Given the description of an element on the screen output the (x, y) to click on. 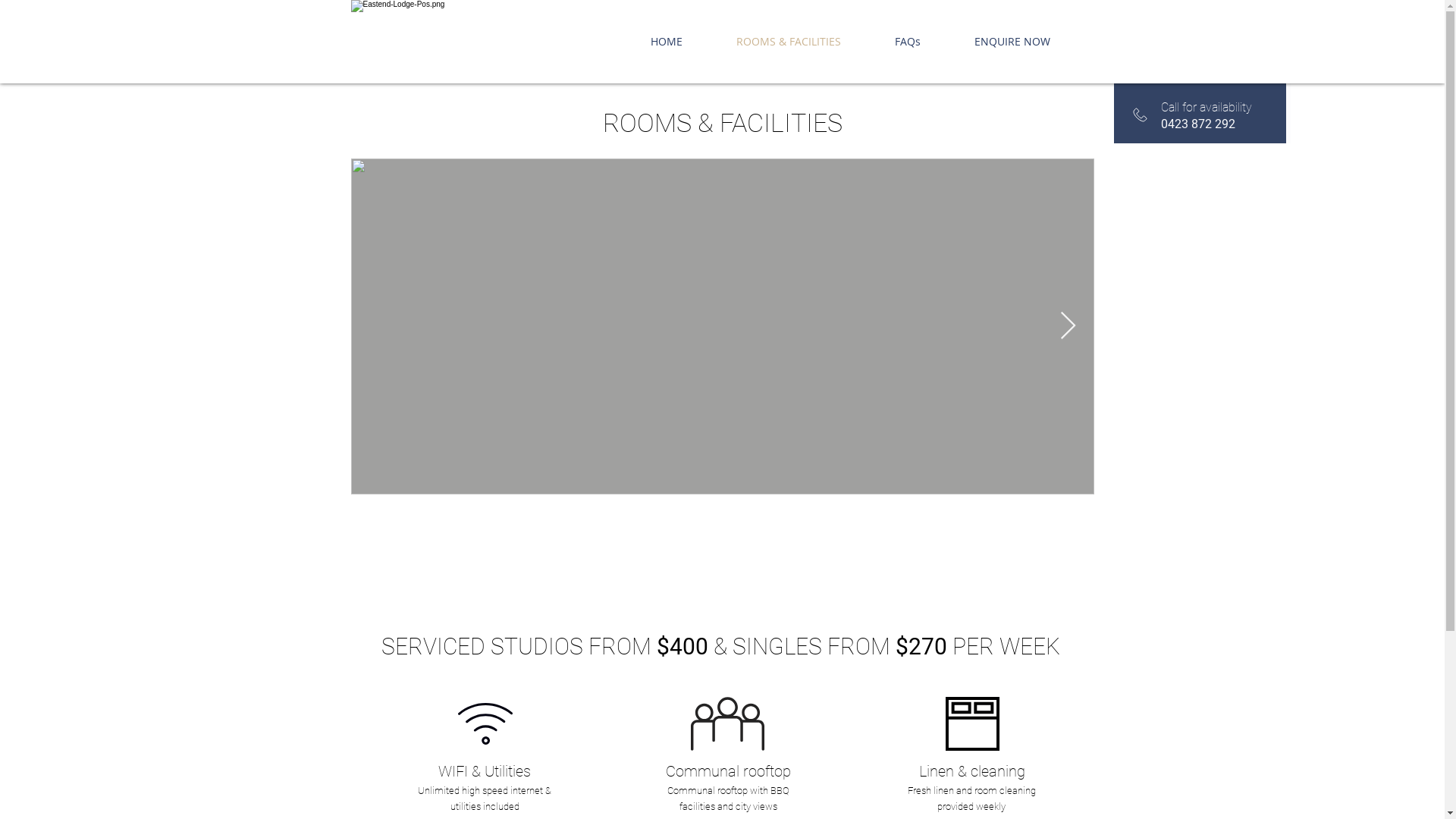
HOME Element type: text (666, 41)
ROOMS & FACILITIES Element type: text (788, 41)
FAQs Element type: text (907, 41)
ENQUIRE NOW Element type: text (1012, 41)
Balmain-Lodge-Pos.png Element type: hover (422, 41)
